Given the description of an element on the screen output the (x, y) to click on. 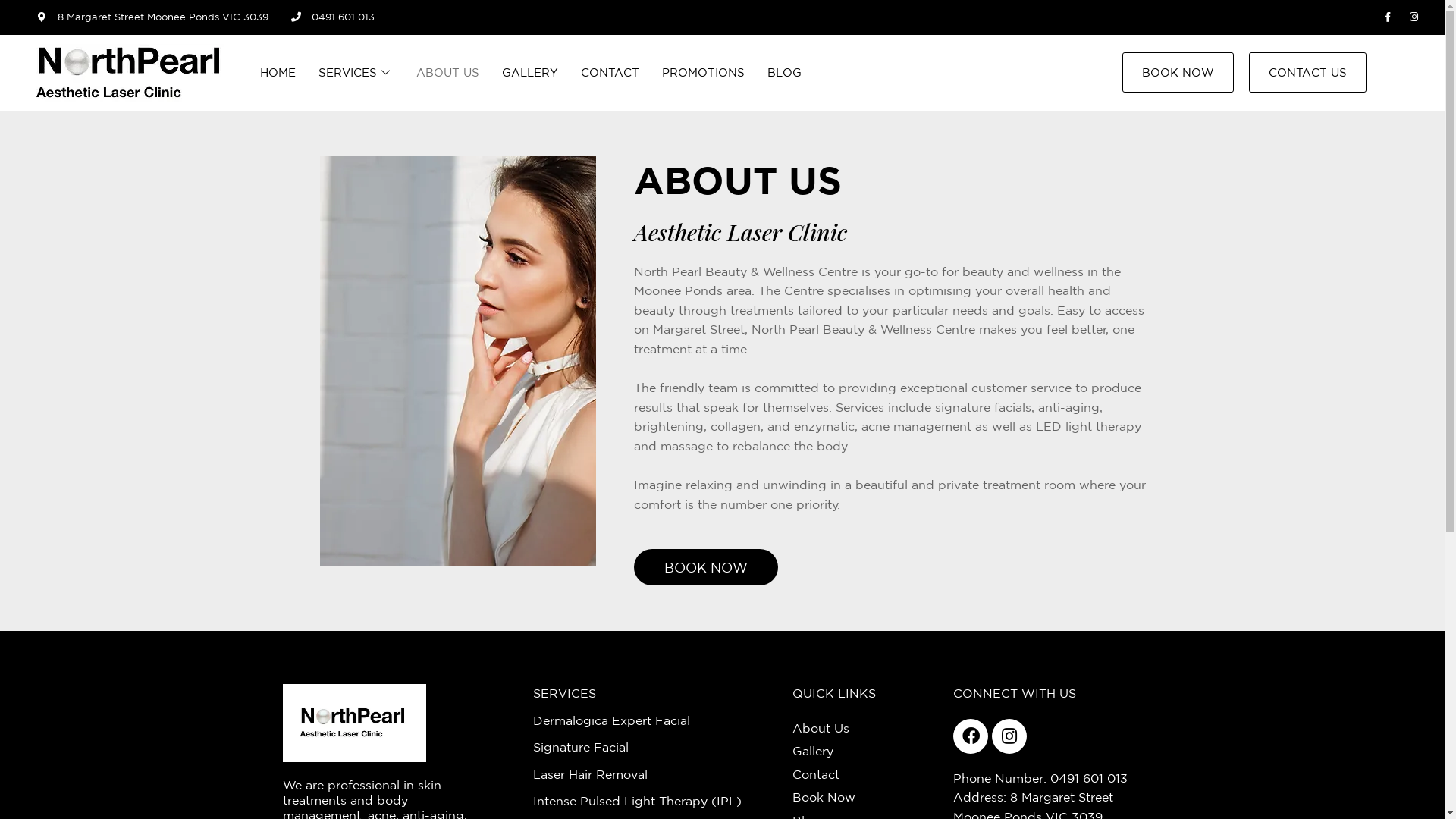
PROMOTIONS Element type: text (703, 72)
CONTACT US Element type: text (1307, 72)
CONTACT Element type: text (609, 72)
GALLERY Element type: text (529, 72)
Dermalogica Expert Facial Element type: text (655, 721)
ABOUT US Element type: text (447, 72)
Contact Element type: text (865, 774)
BOOK NOW Element type: text (705, 567)
Signature Facial Element type: text (655, 747)
SERVICES Element type: text (355, 72)
BOOK NOW Element type: text (1177, 72)
0491 601 013 Element type: text (332, 17)
About Us Element type: text (865, 728)
BLOG Element type: text (784, 72)
Gallery Element type: text (865, 751)
8 Margaret Street Moonee Ponds VIC 3039 Element type: text (152, 17)
HOME Element type: text (277, 72)
Book Now Element type: text (865, 797)
Intense Pulsed Light Therapy (IPL) Element type: text (655, 801)
Laser Hair Removal Element type: text (655, 774)
